Given the description of an element on the screen output the (x, y) to click on. 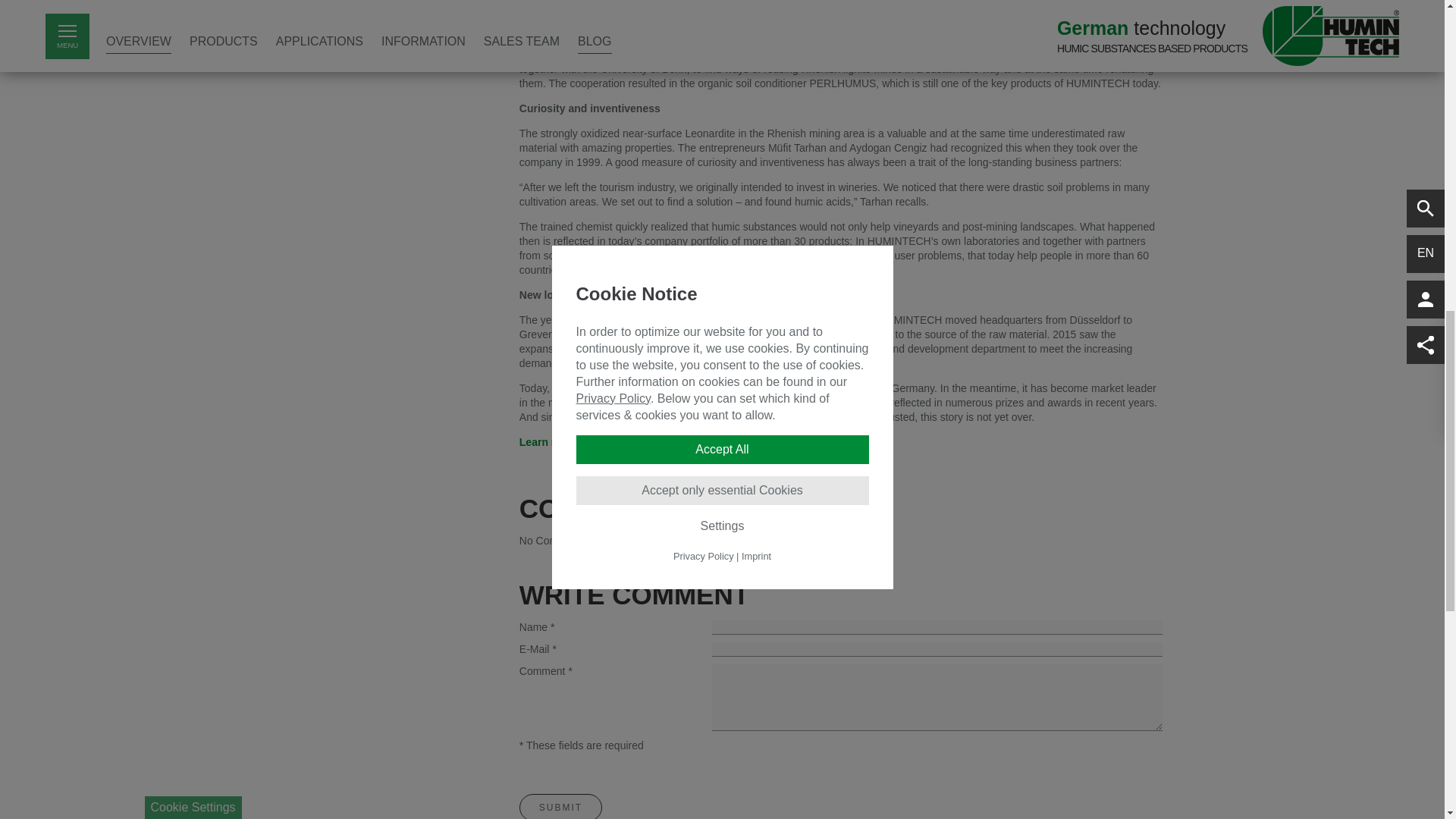
Submit (560, 806)
